Given the description of an element on the screen output the (x, y) to click on. 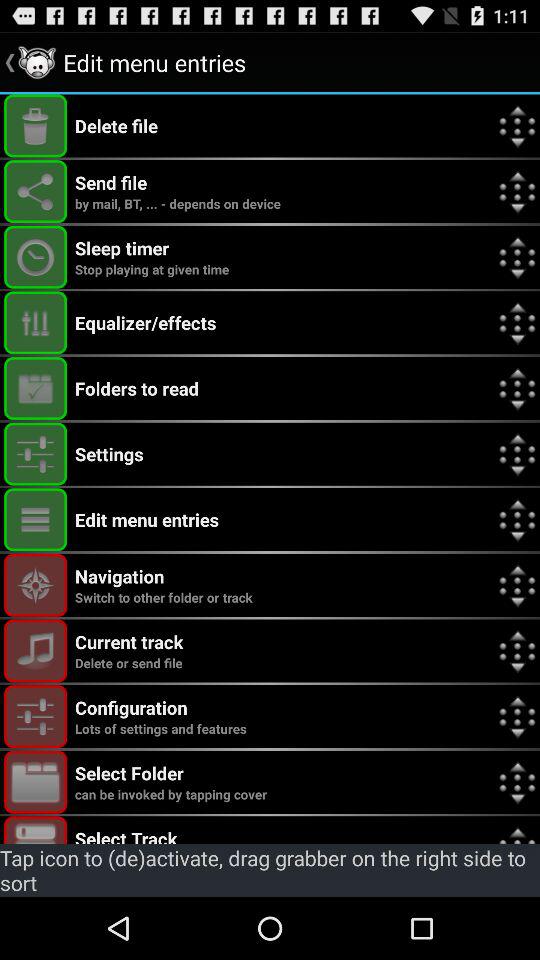
delete file (35, 125)
